Given the description of an element on the screen output the (x, y) to click on. 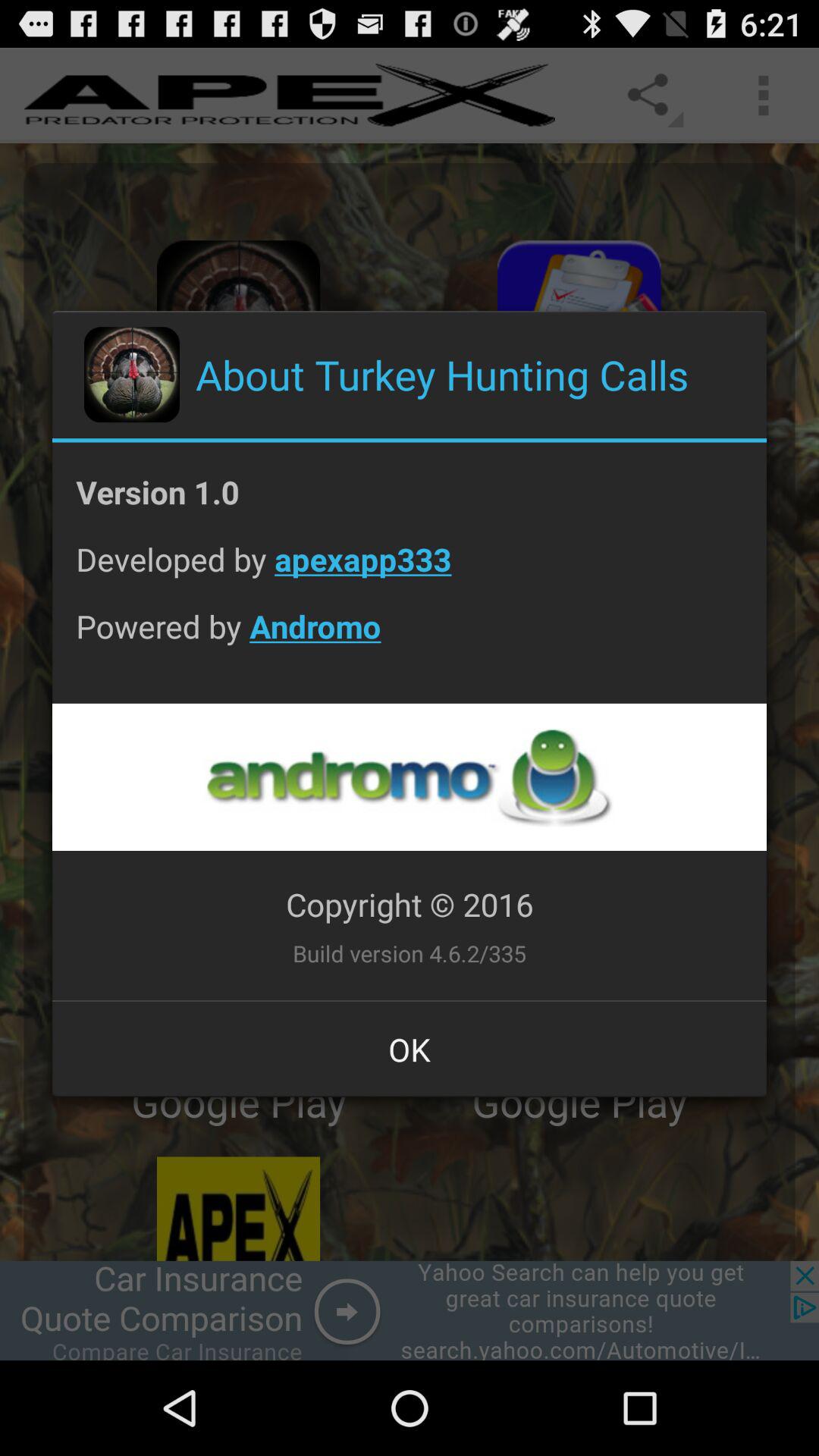
choose the button at the bottom (409, 1049)
